Given the description of an element on the screen output the (x, y) to click on. 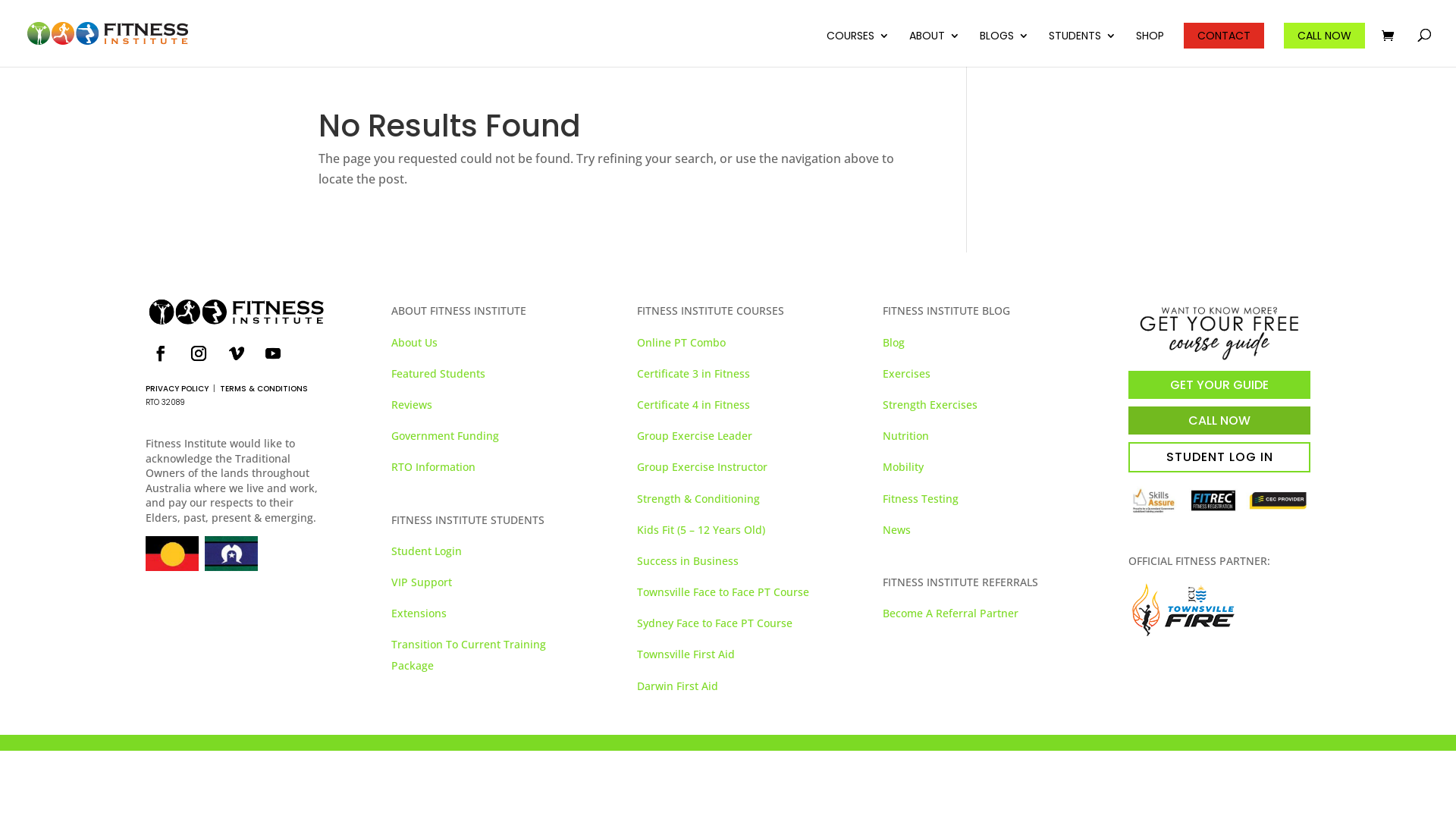
Follow on Facebook Element type: hover (160, 353)
CONTACT Element type: text (1223, 44)
BLOGS Element type: text (1004, 44)
Certificate 4 in Fitness Element type: text (693, 404)
STUDENT LOG IN Element type: text (1219, 457)
Follow on Vimeo Element type: hover (236, 353)
CALL NOW Element type: text (1219, 420)
STUDENTS Element type: text (1082, 44)
Extensions Element type: text (418, 612)
News Element type: text (896, 529)
RTO Information Element type: text (433, 466)
Mobility Element type: text (902, 466)
VIP Support Element type: text (421, 581)
Sydney Face to Face PT Course Element type: text (714, 622)
GET YOUR GUIDE Element type: text (1219, 384)
Group Exercise Instructor Element type: text (702, 466)
About Us Element type: text (414, 342)
Townsville First Aid Element type: text (685, 653)
Online PT Combo Element type: text (681, 342)
Strength & Conditioning Element type: text (698, 498)
Fitness Testing Element type: text (920, 498)
ABOUT Element type: text (934, 44)
Transition To Current Training Package Element type: text (468, 654)
Exercises Element type: text (906, 373)
Featured Students Element type: text (438, 373)
Become A Referral Partner Element type: text (950, 612)
Blog Element type: text (893, 342)
Follow on Youtube Element type: hover (272, 353)
Reviews Element type: text (411, 404)
CALL NOW Element type: text (1324, 35)
Certificate 3 in Fitness Element type: text (693, 373)
SHOP Element type: text (1149, 44)
Nutrition Element type: text (905, 435)
TERMS & CONDITIONS Element type: text (263, 388)
Strength Exercises Element type: text (929, 404)
Follow on Instagram Element type: hover (198, 353)
Government Funding Element type: text (444, 435)
PRIVACY POLICY Element type: text (176, 388)
Group Exercise Leader Element type: text (694, 435)
Student Login Element type: text (426, 550)
Townsville Face to Face PT Course Element type: text (723, 591)
Darwin First Aid Element type: text (677, 685)
3-logos Element type: hover (1219, 500)
COURSES Element type: text (857, 44)
Fitness Institute Australia Logo Element type: hover (236, 311)
Success in Business Element type: text (687, 560)
